Given the description of an element on the screen output the (x, y) to click on. 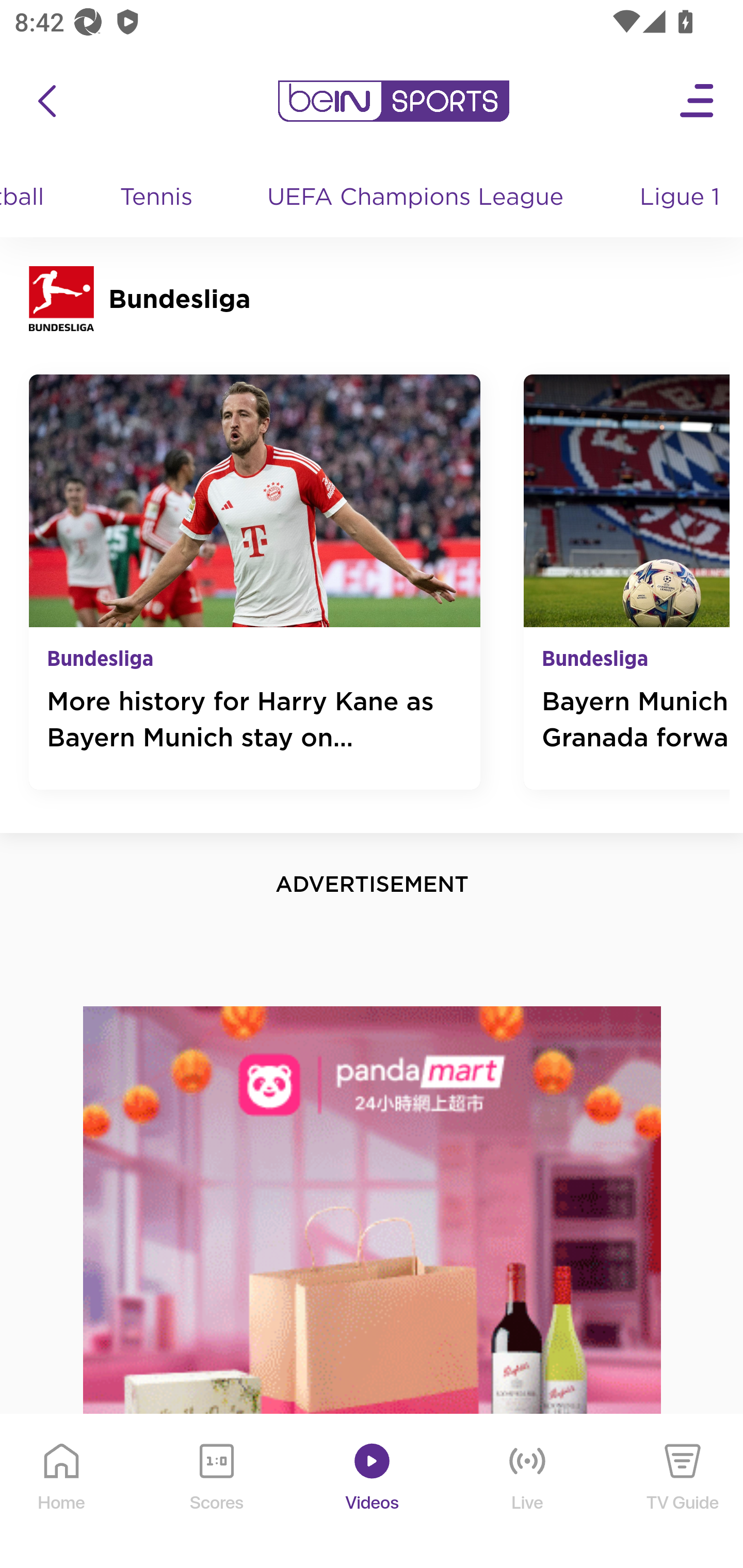
en-my?platform=mobile_android bein logo (392, 101)
icon back (46, 101)
Open Menu Icon (697, 101)
Tennis (157, 198)
UEFA Champions League (417, 198)
Ligue 1 (681, 198)
Advertisement (372, 1286)
Home Home Icon Home (61, 1491)
Scores Scores Icon Scores (216, 1491)
Videos Videos Icon Videos (372, 1491)
TV Guide TV Guide Icon TV Guide (682, 1491)
